Given the description of an element on the screen output the (x, y) to click on. 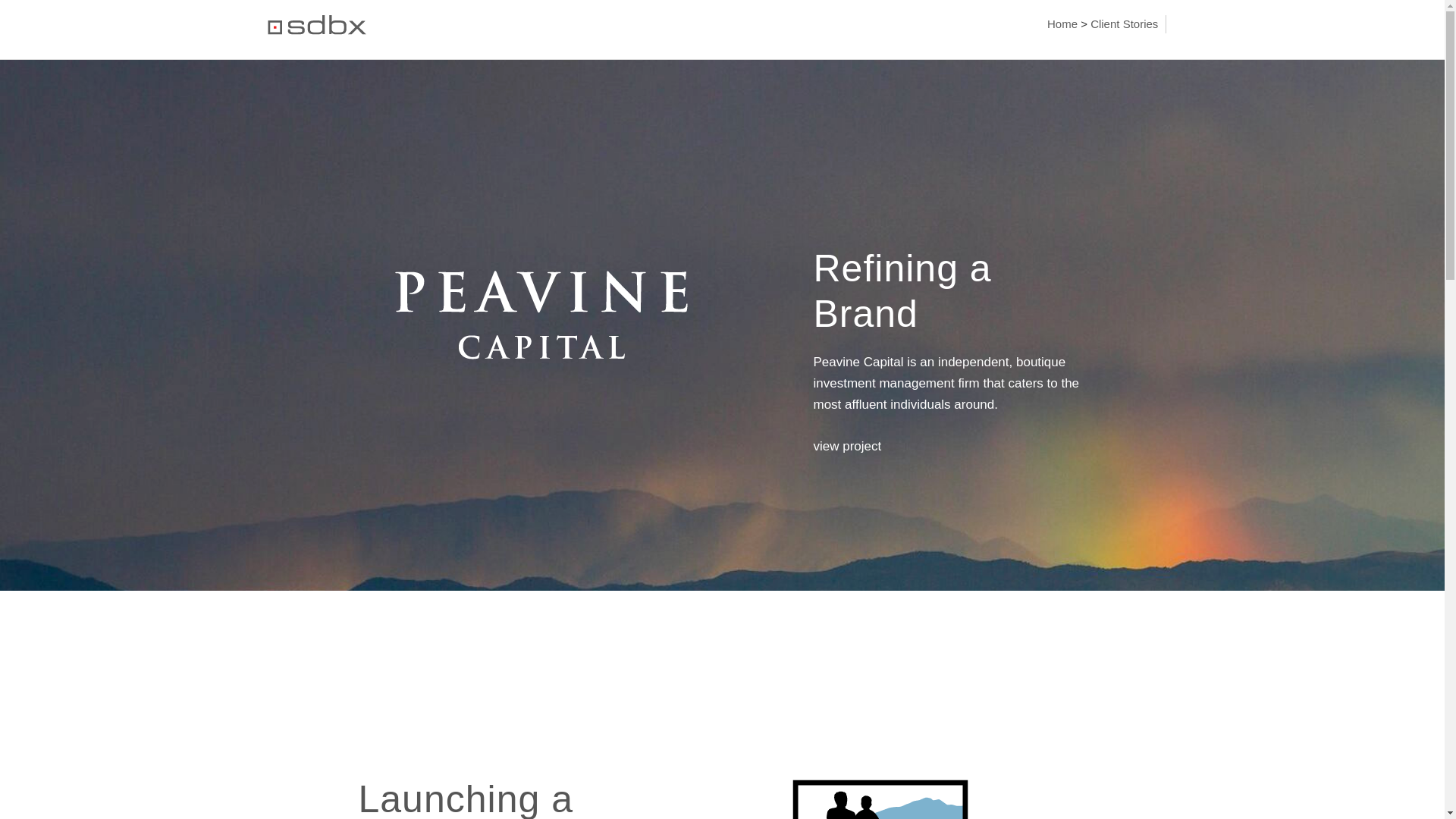
SDBX (315, 29)
Client Stories (1123, 23)
view project (846, 445)
Home (1061, 23)
